Given the description of an element on the screen output the (x, y) to click on. 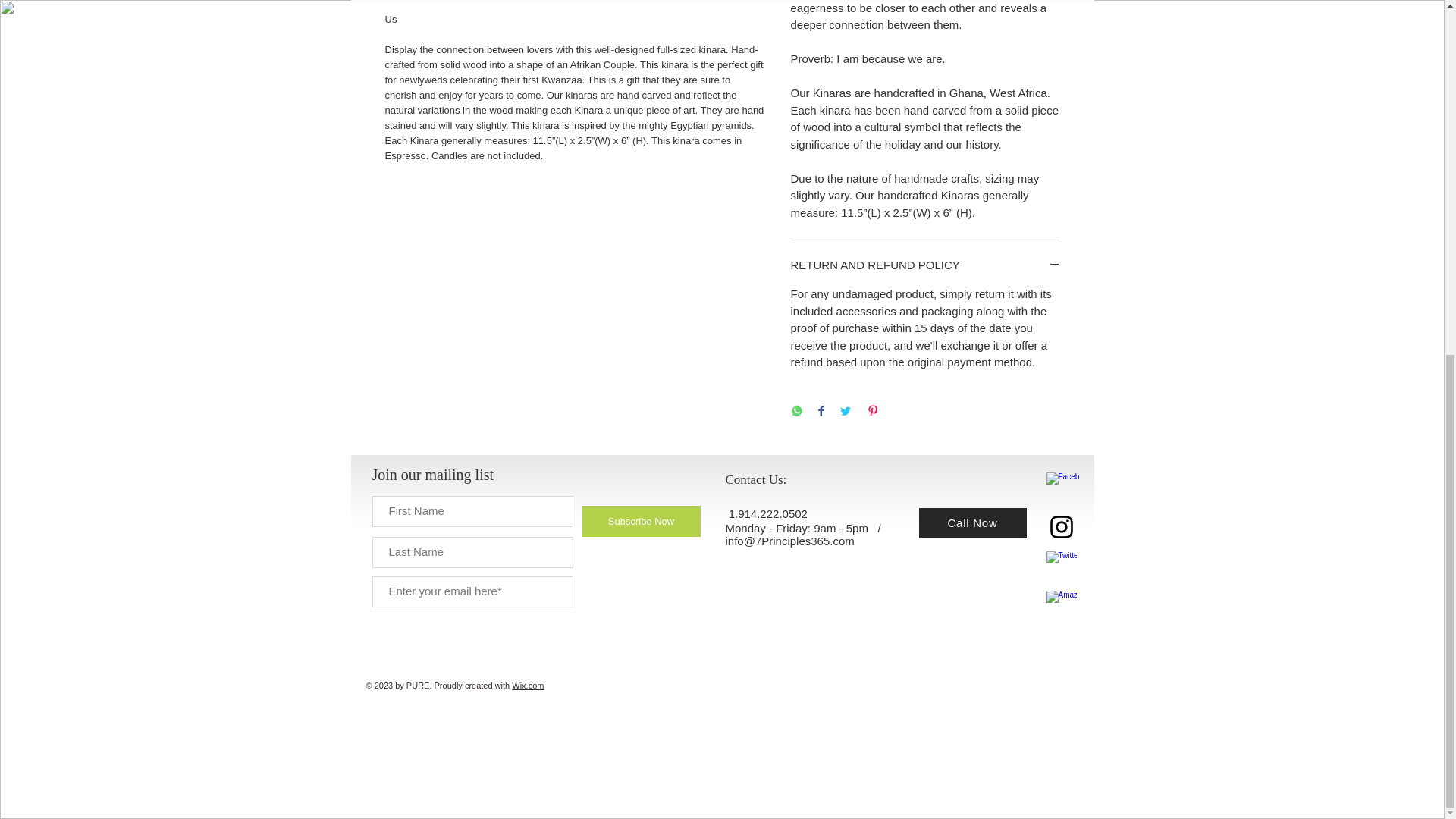
Call Now (972, 522)
Subscribe Now (641, 521)
RETURN AND REFUND POLICY (924, 265)
Wix.com (527, 685)
